Given the description of an element on the screen output the (x, y) to click on. 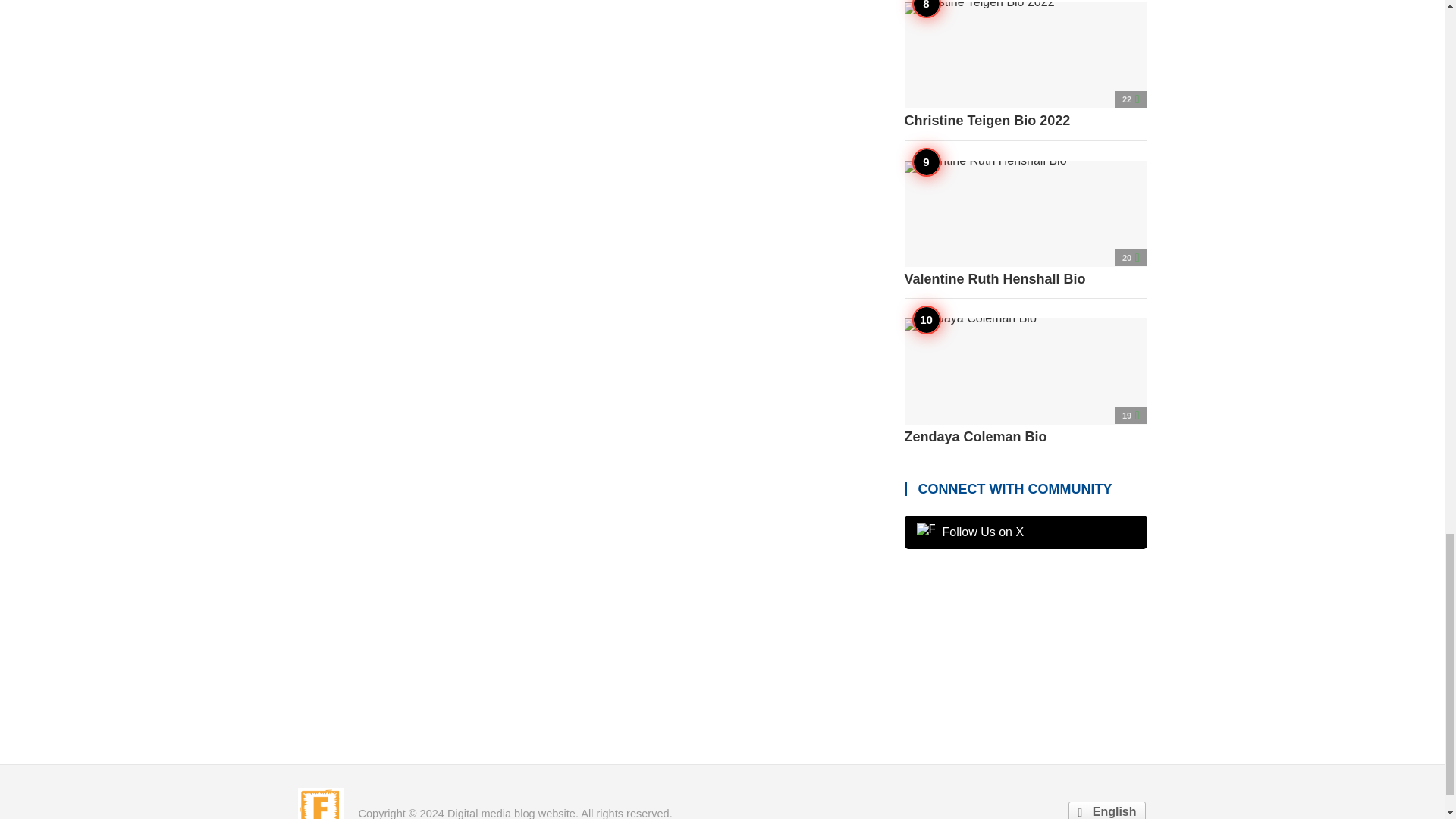
Valentine Ruth Henshall Bio (1025, 224)
Christine Teigen  Bio 2022 (1025, 65)
Advertisement (1025, 652)
Zendaya Coleman Bio (1025, 381)
